Given the description of an element on the screen output the (x, y) to click on. 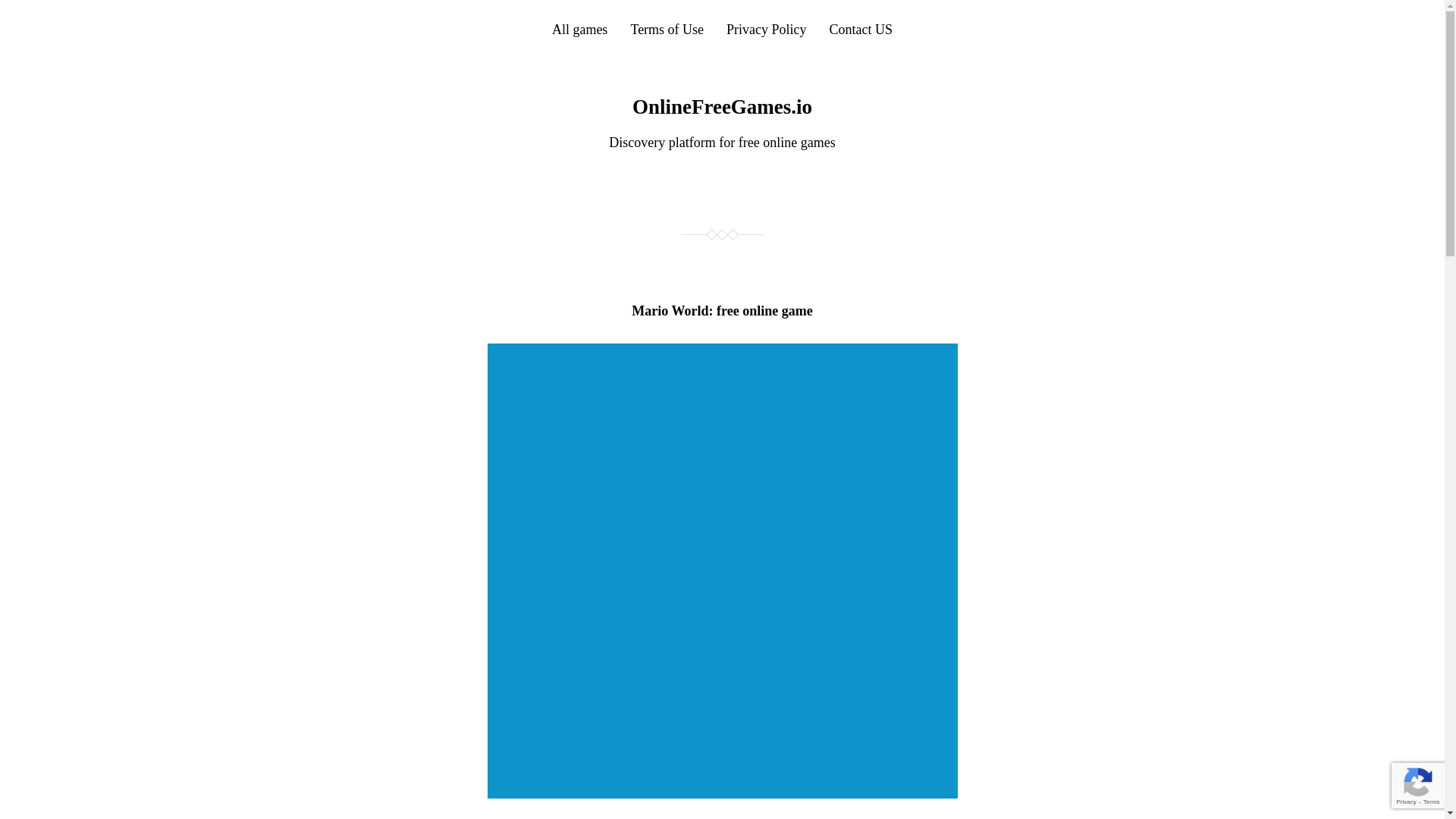
Contact US (861, 29)
Terms of Use (666, 29)
All games (579, 29)
Privacy Policy (766, 29)
Mario World: free online game (721, 310)
OnlineFreeGames.io (721, 106)
